Given the description of an element on the screen output the (x, y) to click on. 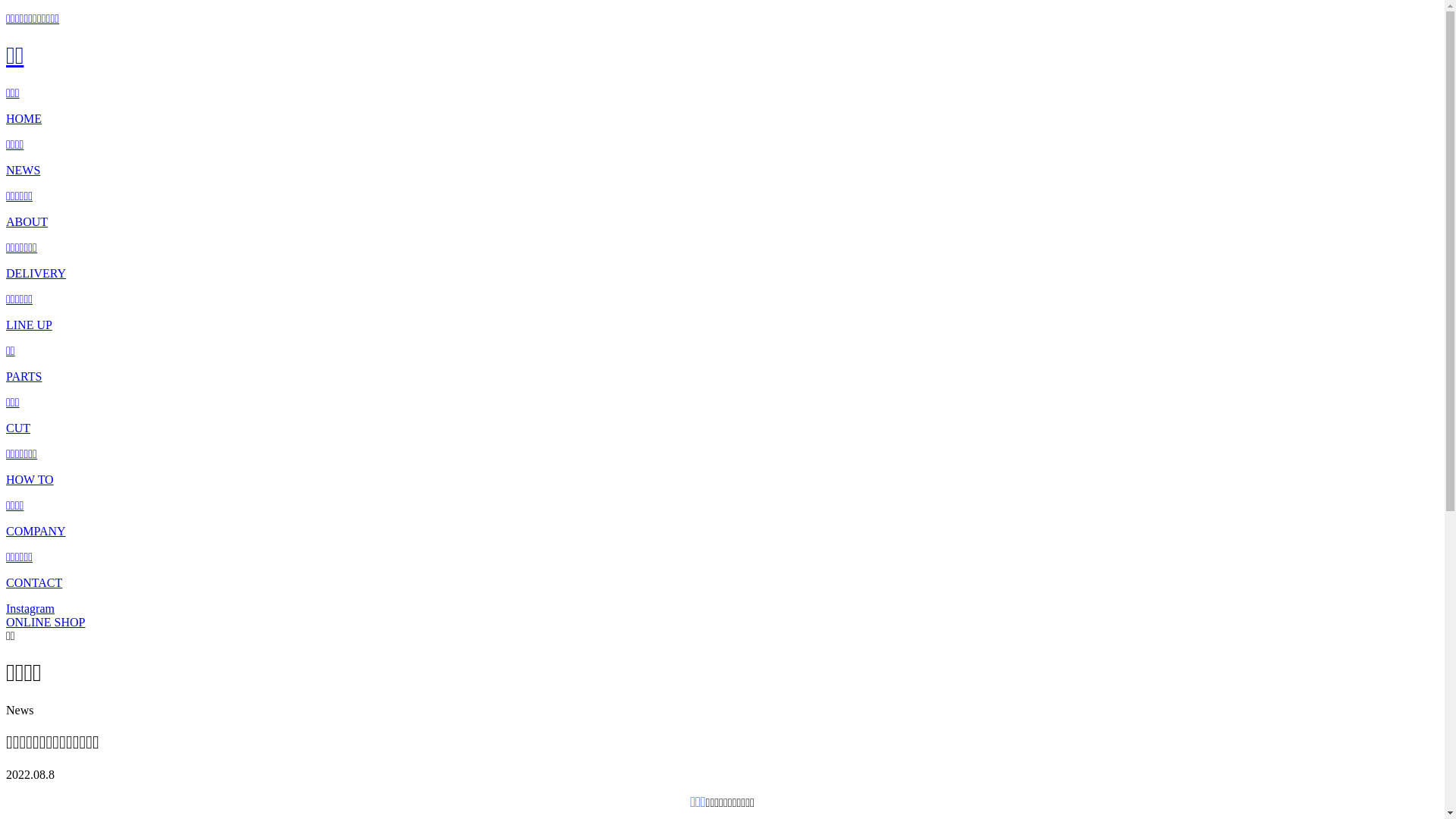
Instagram Element type: text (30, 608)
ONLINE SHOP Element type: text (45, 621)
